Given the description of an element on the screen output the (x, y) to click on. 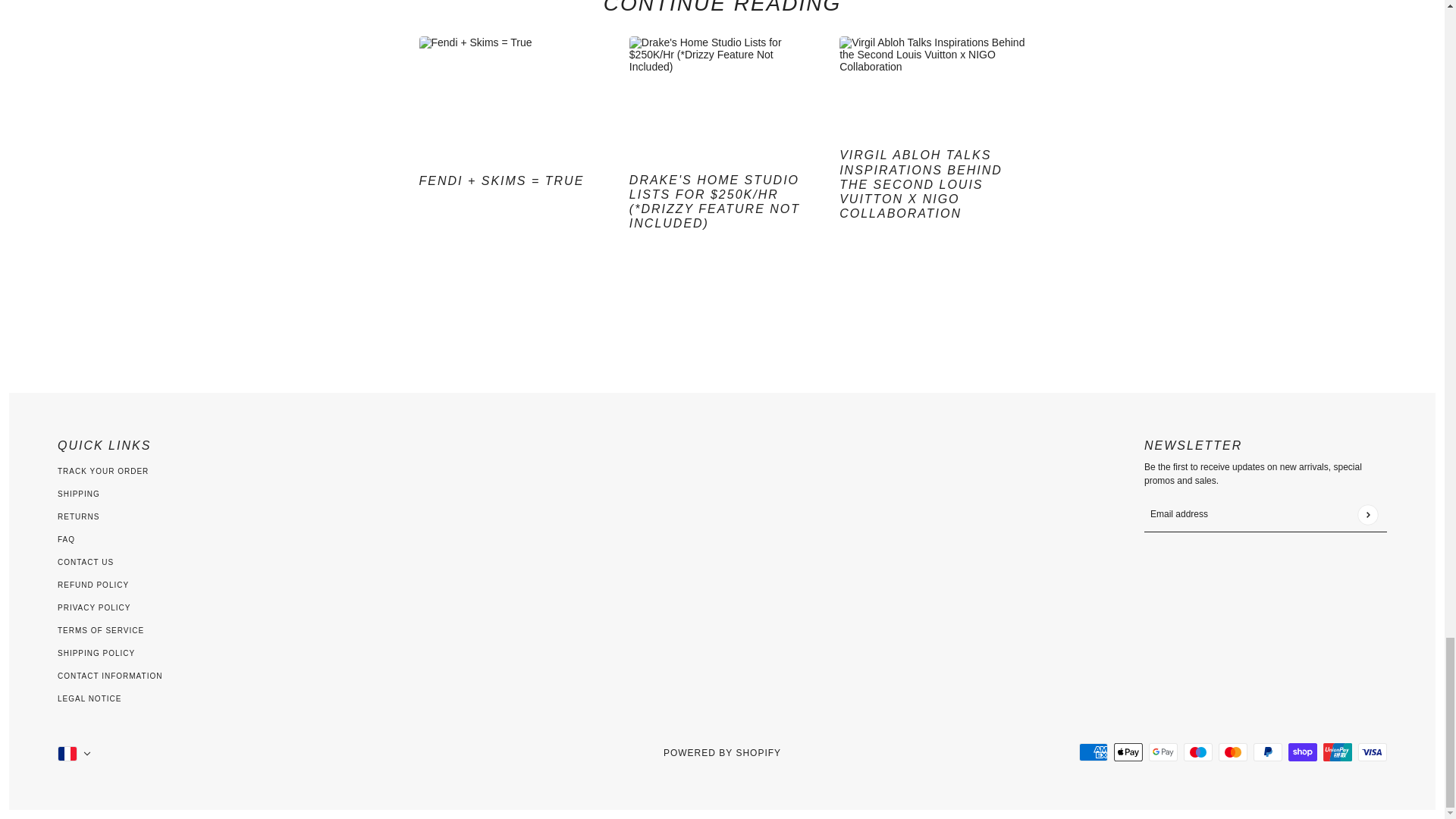
Contact us (85, 561)
Shipping (79, 493)
Track your order (103, 470)
Contact information (109, 675)
FAQ (66, 539)
Refund policy (93, 584)
Privacy policy (94, 607)
Returns (78, 516)
Shipping policy (96, 653)
Terms of service (101, 630)
